Given the description of an element on the screen output the (x, y) to click on. 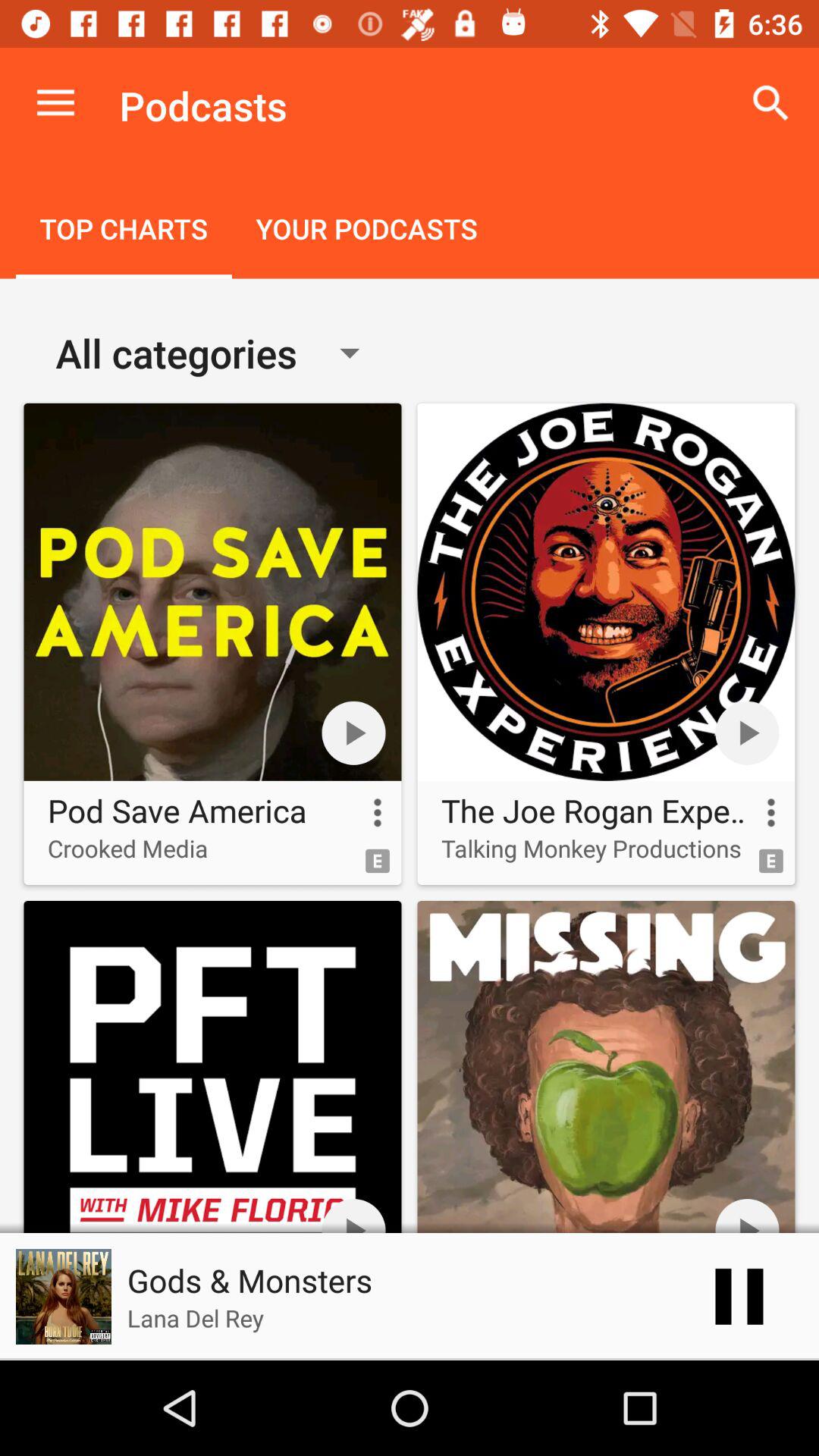
choose icon below the podcasts item (366, 230)
